Given the description of an element on the screen output the (x, y) to click on. 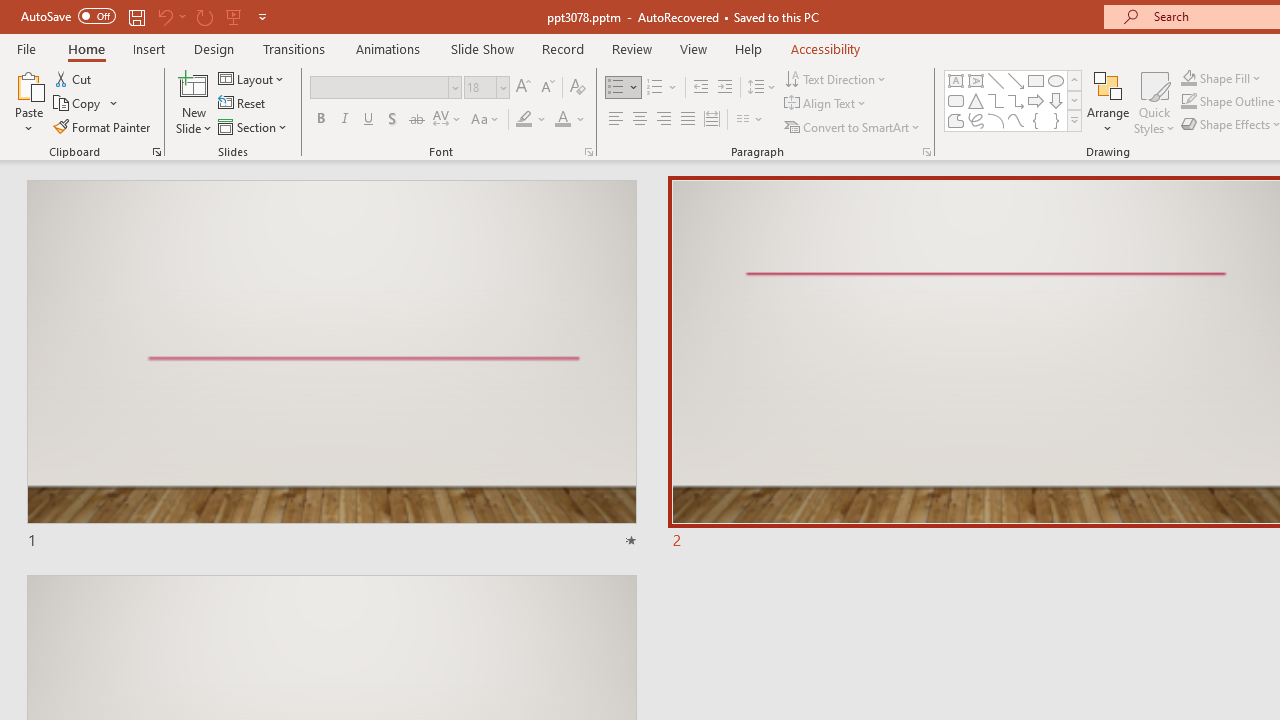
Shape Outline Green, Accent 1 (1188, 101)
